Given the description of an element on the screen output the (x, y) to click on. 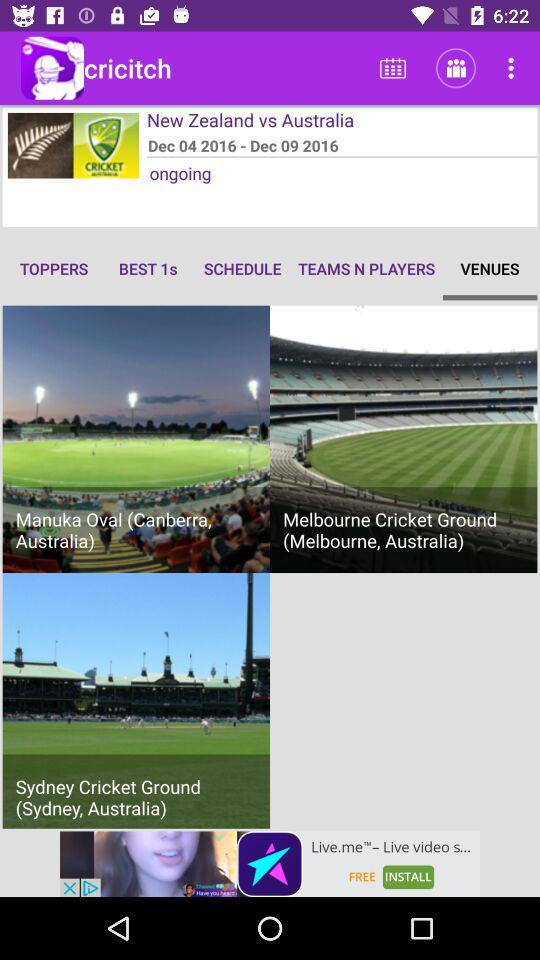
click on suggestion icon at top right corner (514, 68)
click on image below toppers (136, 439)
click on the first icon next to cricitch (392, 68)
